Given the description of an element on the screen output the (x, y) to click on. 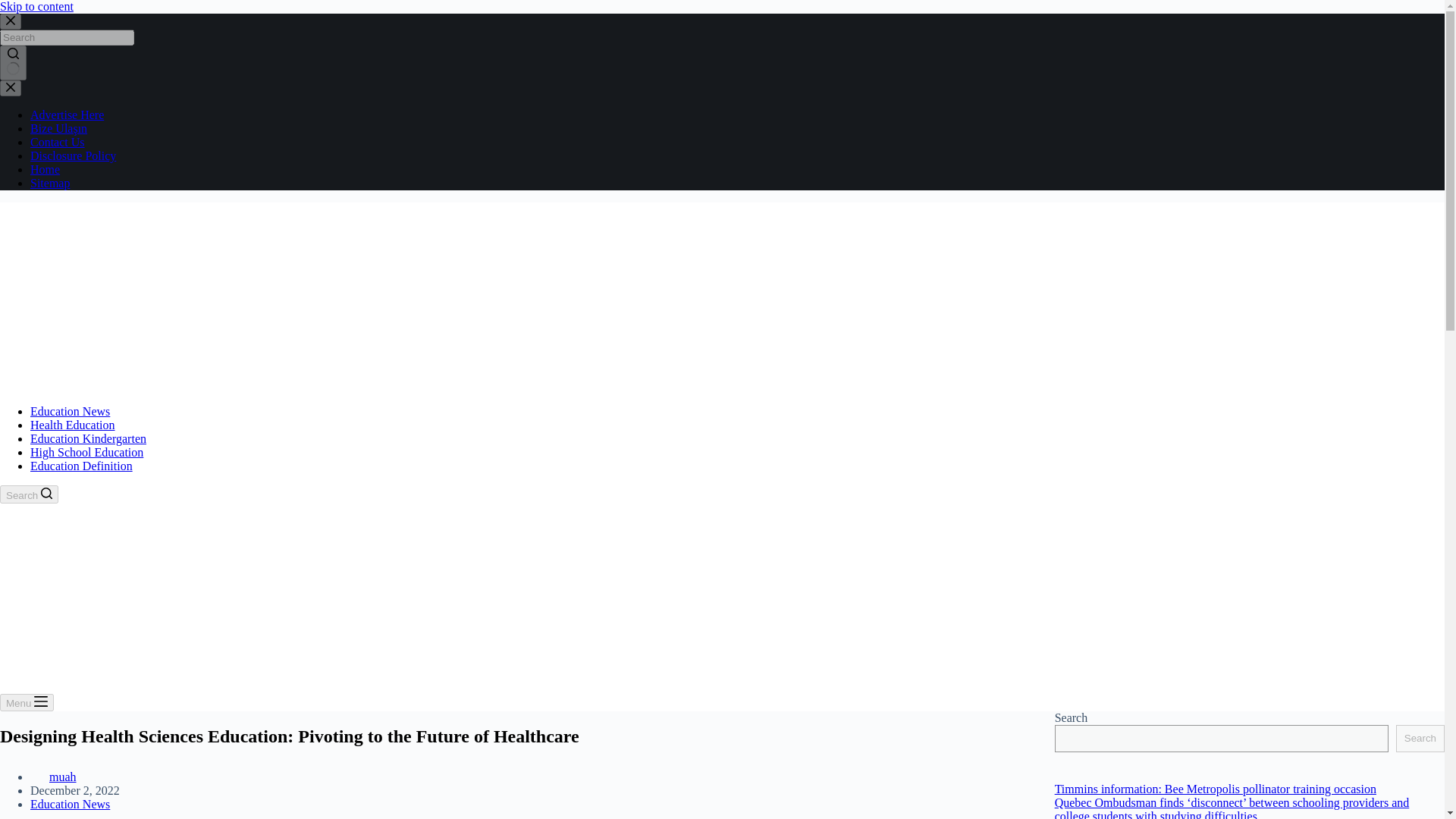
Health Education (72, 424)
Education Kindergarten (88, 438)
Search for... (66, 37)
Advertise Here (66, 114)
Disclosure Policy (73, 155)
Posts by muah (63, 776)
muah (63, 776)
Menu (26, 702)
Sitemap (49, 182)
Contact Us (57, 141)
Search (29, 494)
Home (44, 169)
Education Definition (81, 465)
